Given the description of an element on the screen output the (x, y) to click on. 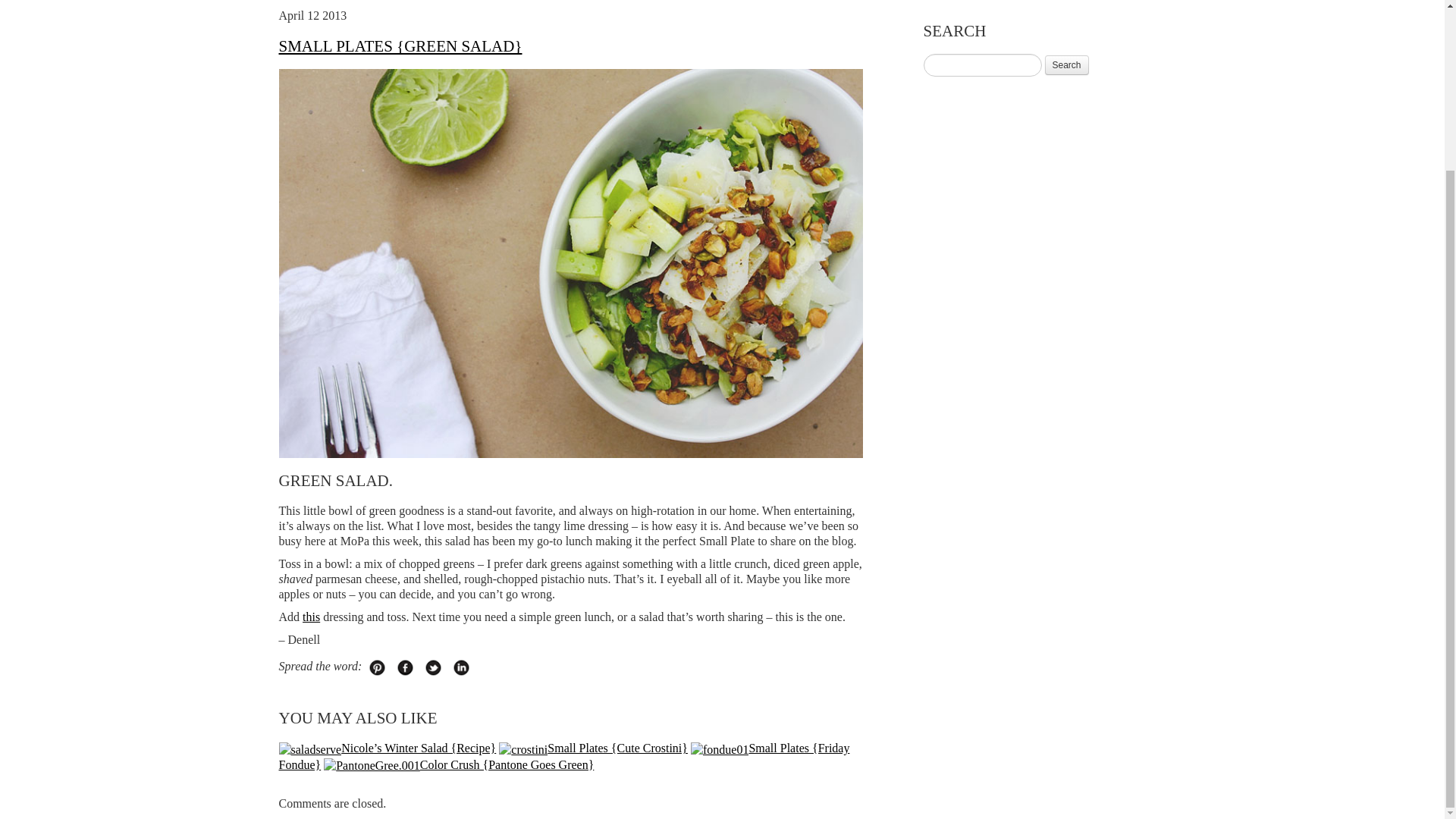
Search (1067, 65)
Search (1067, 65)
this (311, 616)
